Given the description of an element on the screen output the (x, y) to click on. 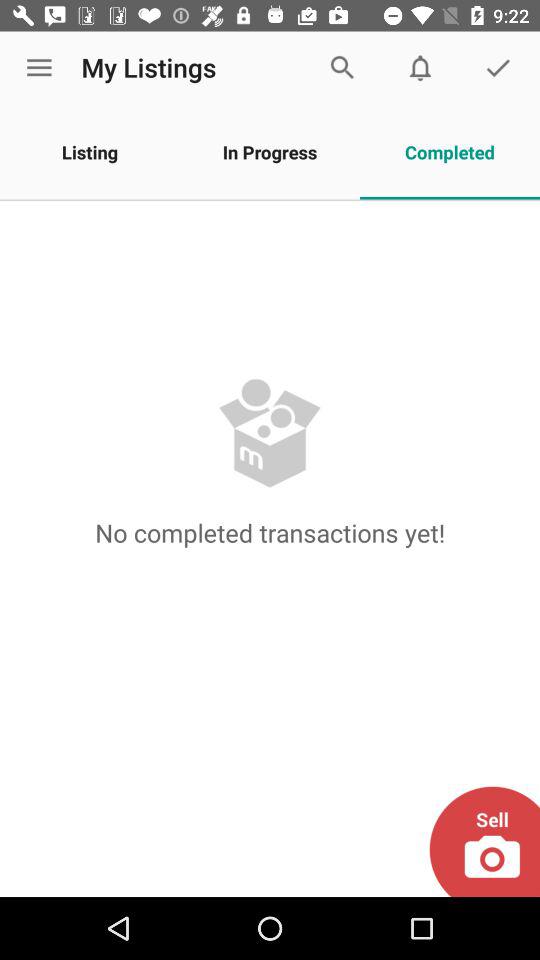
picture (484, 841)
